Given the description of an element on the screen output the (x, y) to click on. 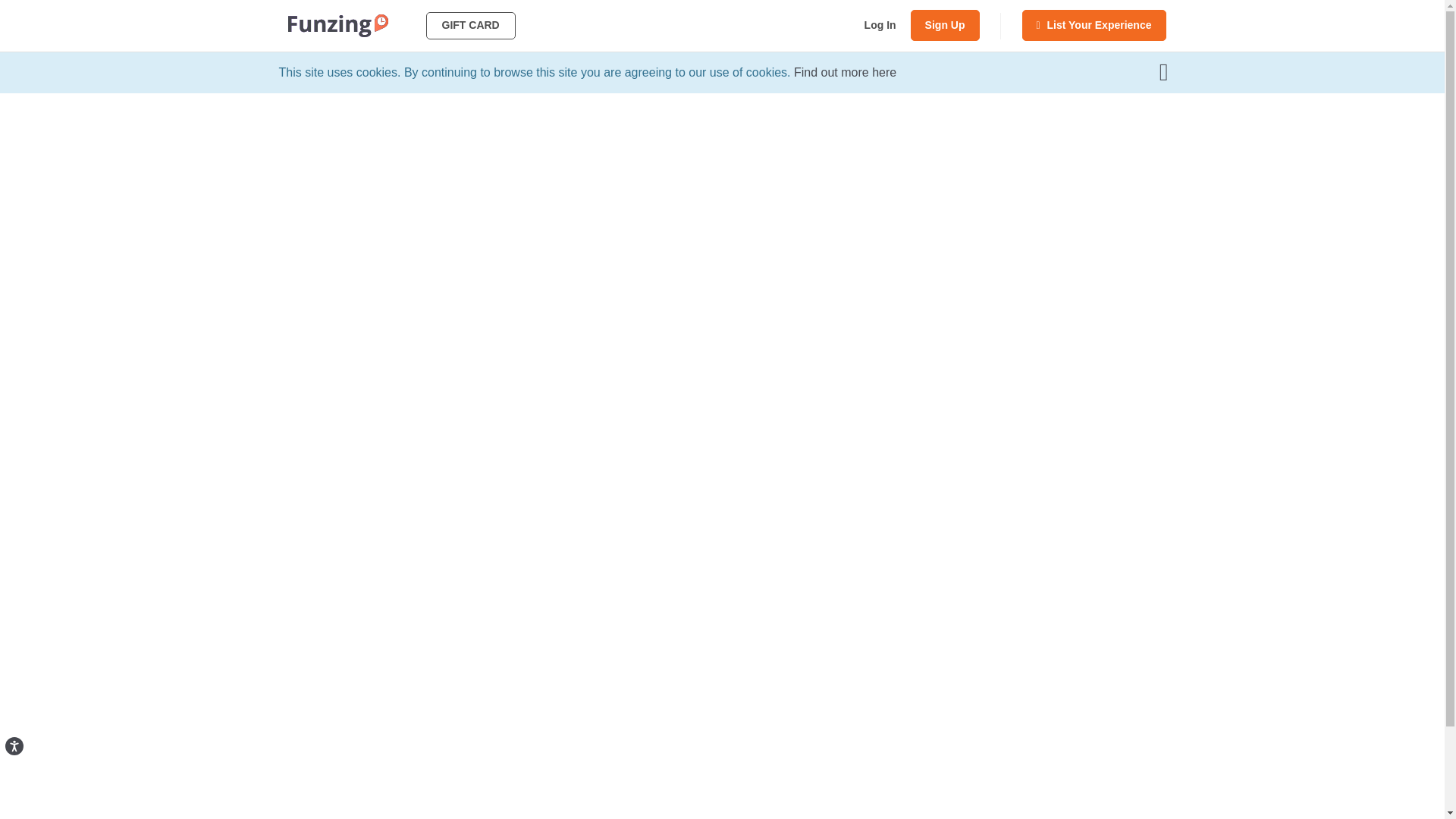
Accessibility (35, 767)
Sign Up (945, 24)
GIFT CARD (470, 25)
List Your Experience (1094, 24)
Find out more here (844, 72)
Log In (880, 24)
